Given the description of an element on the screen output the (x, y) to click on. 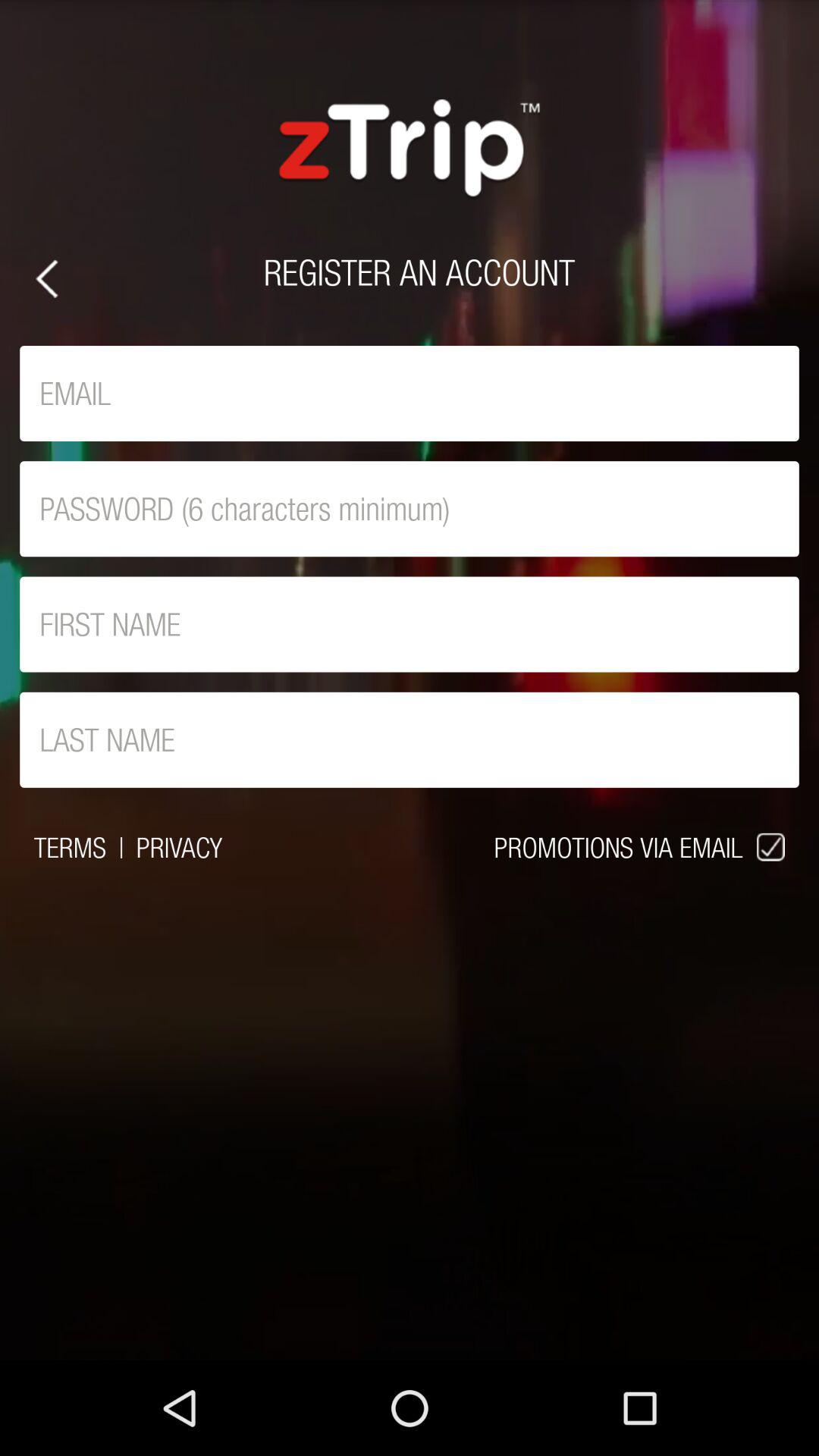
open privacy (179, 847)
